Given the description of an element on the screen output the (x, y) to click on. 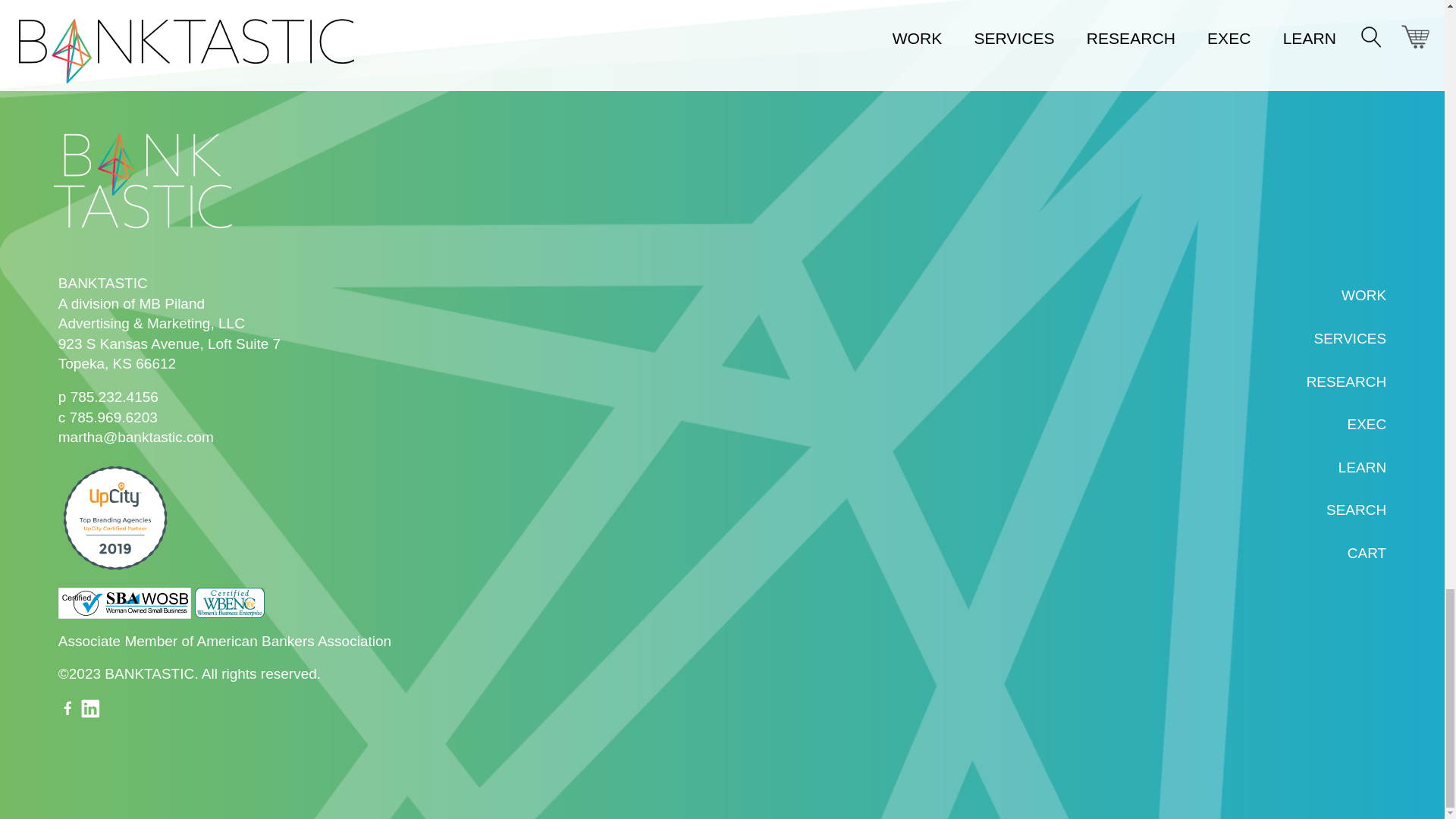
RESEARCH (1346, 381)
EXEC (1366, 424)
Associate Member of American Bankers Association (224, 641)
WORK (1363, 295)
SERVICES (1349, 338)
